Given the description of an element on the screen output the (x, y) to click on. 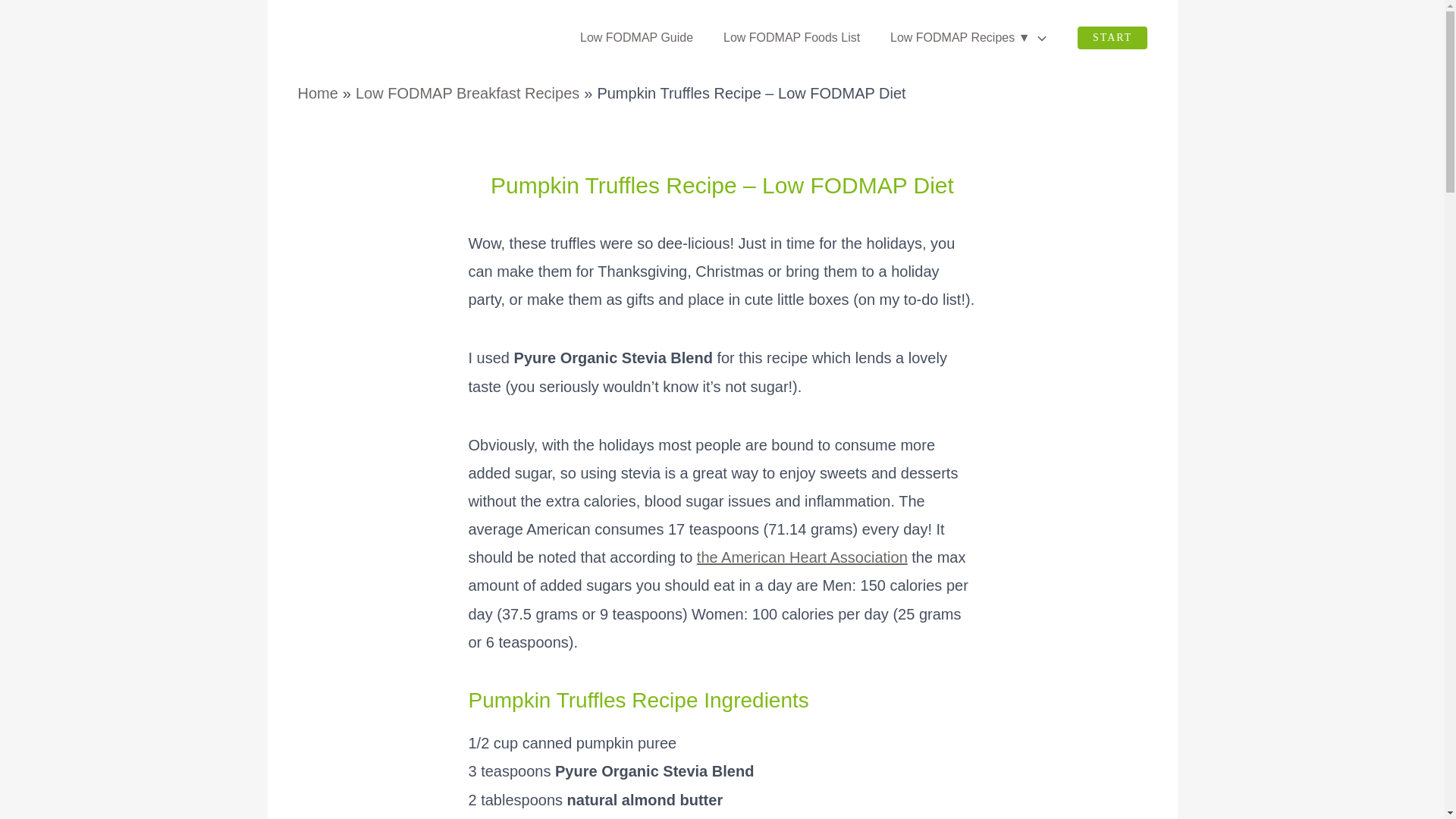
Low FODMAP Breakfast Recipes (467, 93)
Home (317, 93)
the American Heart Association (802, 556)
Low FODMAP Guide (635, 36)
START (1112, 36)
Low FODMAP Foods List (791, 36)
